Given the description of an element on the screen output the (x, y) to click on. 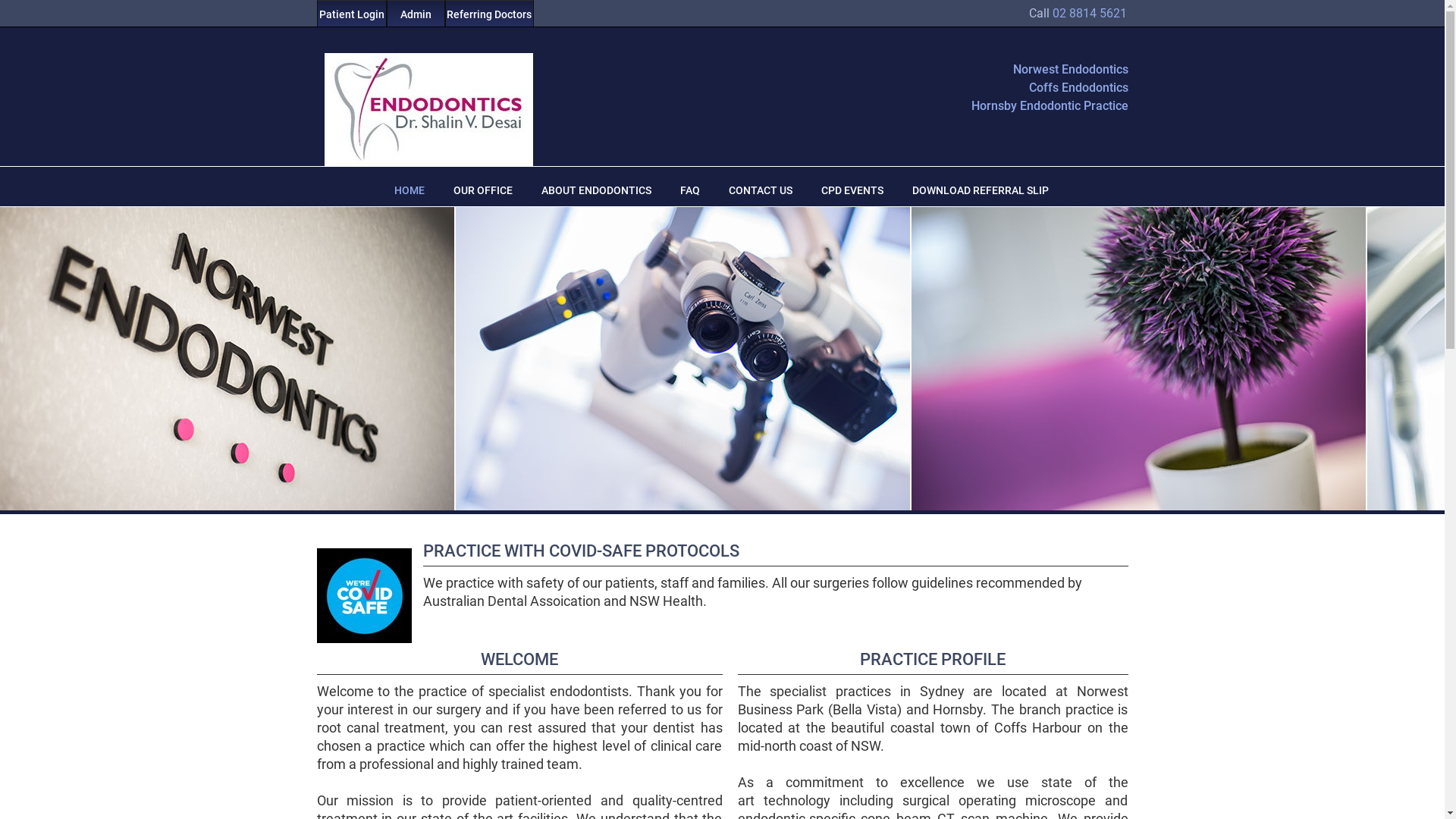
Patient Login Element type: text (351, 13)
Skip to Main Content Element type: text (50, 6)
Call 02 8814 5621 Element type: text (1077, 13)
DOWNLOAD REFERRAL SLIP Element type: text (979, 190)
ABOUT ENDODONTICS Element type: text (596, 190)
Referring Doctors Element type: text (488, 13)
Norwest Endodontics Element type: text (1044, 71)
Admin Element type: text (415, 13)
Coffs Endodontics Element type: text (1044, 89)
FAQ Element type: text (689, 190)
Hornsby Endodontic Practice Element type: text (1044, 107)
OUR OFFICE Element type: text (482, 190)
Home Element type: text (14, 6)
CPD EVENTS Element type: text (851, 190)
CONTACT US Element type: text (759, 190)
